Given the description of an element on the screen output the (x, y) to click on. 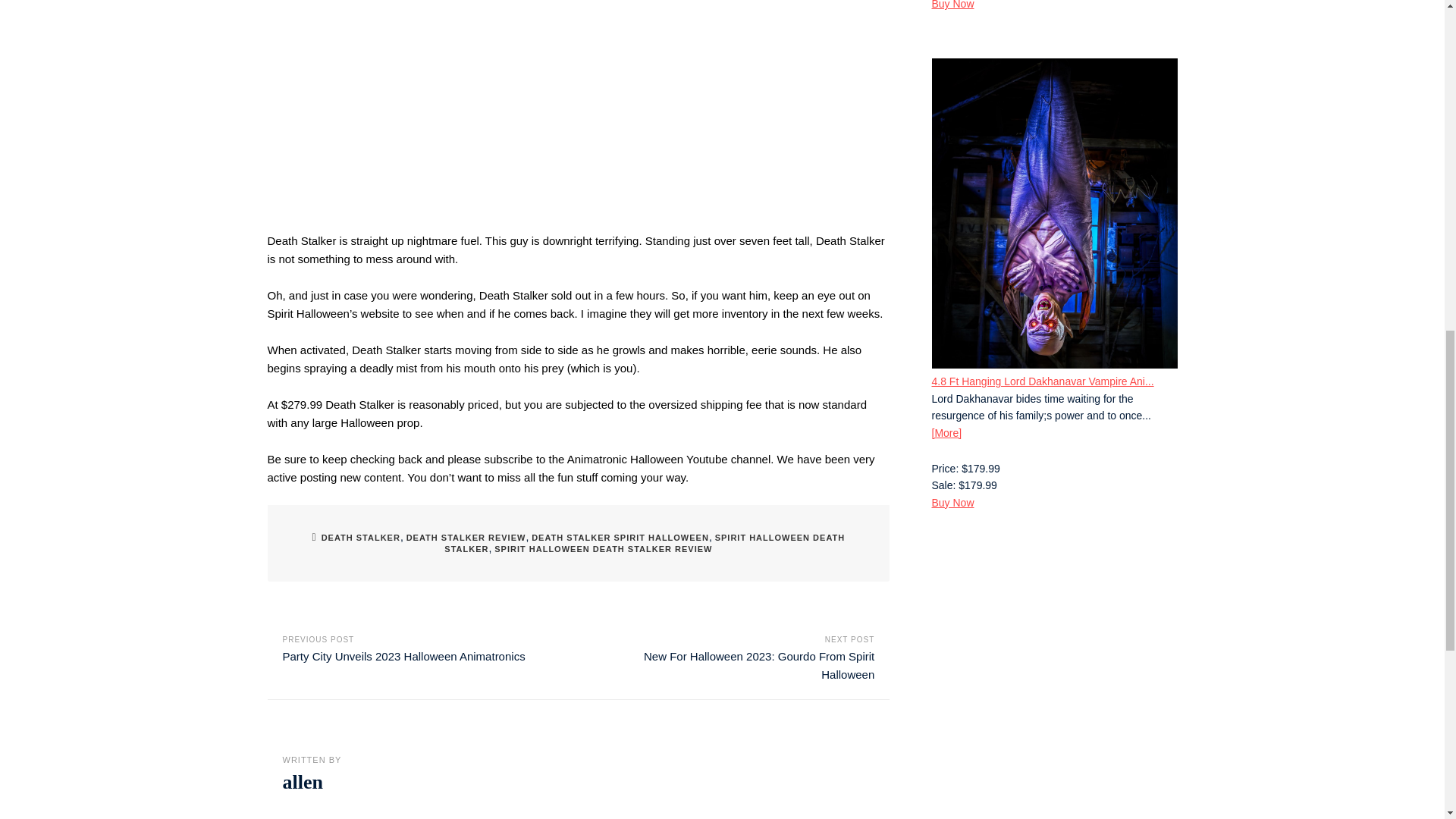
4.8 Ft Hanging Lord Dakhanavar Vampire Ani... (1042, 381)
SPIRIT HALLOWEEN DEATH STALKER (644, 543)
DEATH STALKER REVIEW (465, 537)
New For Halloween 2023: Gourdo From Spirit Halloween (759, 665)
Buy Now (952, 502)
YouTube video player (577, 107)
Party City Unveils 2023 Halloween Animatronics (403, 656)
allen (301, 782)
Buy Now (952, 4)
